Given the description of an element on the screen output the (x, y) to click on. 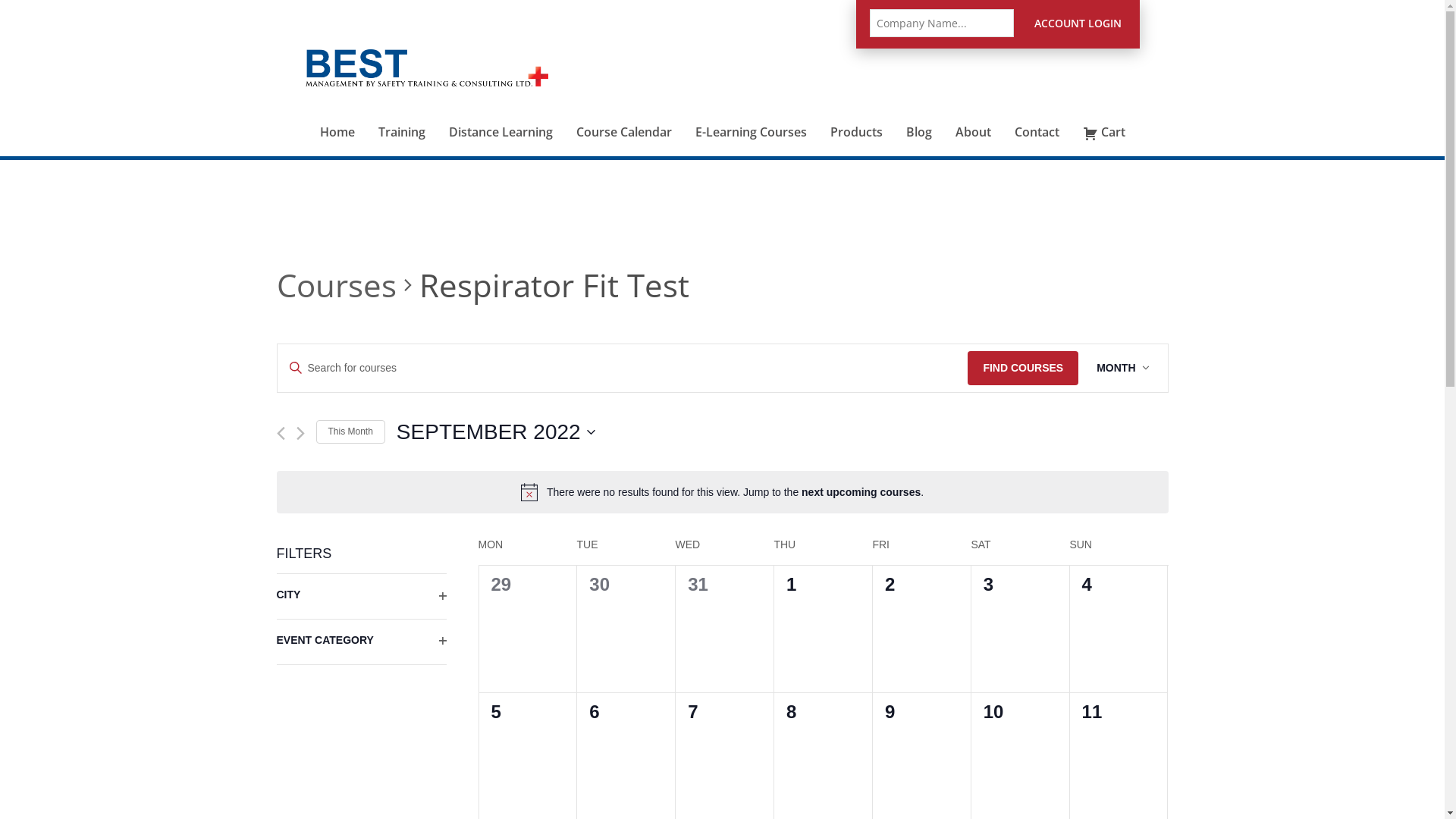
Next month Element type: hover (299, 433)
FIND COURSES Element type: text (1022, 368)
Blog Element type: text (918, 118)
CITY
OPEN FILTER Element type: text (360, 596)
Training Element type: text (401, 118)
BEST Safety Training Element type: text (425, 68)
This Month Element type: text (349, 431)
Skip to main content Element type: text (0, 0)
Home Element type: text (336, 118)
SEPTEMBER 2022 Element type: text (495, 432)
Course Calendar Element type: text (623, 118)
next upcoming courses Element type: text (860, 492)
About Element type: text (972, 118)
Cart Element type: text (1103, 119)
Products Element type: text (855, 118)
Contact Element type: text (1036, 118)
MONTH Element type: text (1122, 368)
Courses Element type: text (335, 285)
E-Learning Courses Element type: text (750, 118)
Previous month Element type: hover (280, 433)
EVENT CATEGORY
OPEN FILTER Element type: text (360, 641)
Distance Learning Element type: text (500, 118)
ACCOUNT LOGIN Element type: text (1077, 23)
